Given the description of an element on the screen output the (x, y) to click on. 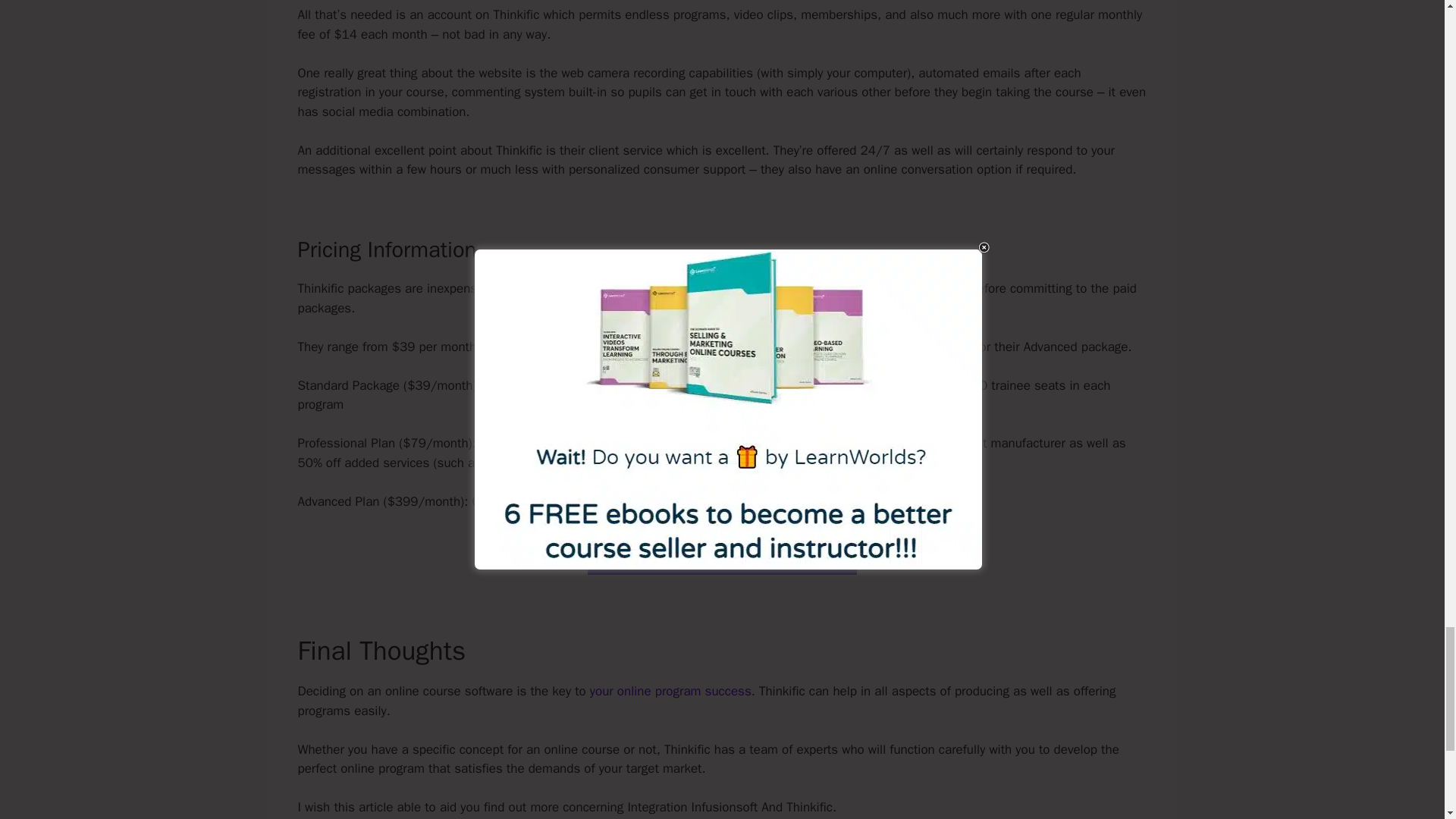
your online program success (670, 691)
Go Here For Detailed Pricing (722, 553)
a free trial (564, 288)
